Given the description of an element on the screen output the (x, y) to click on. 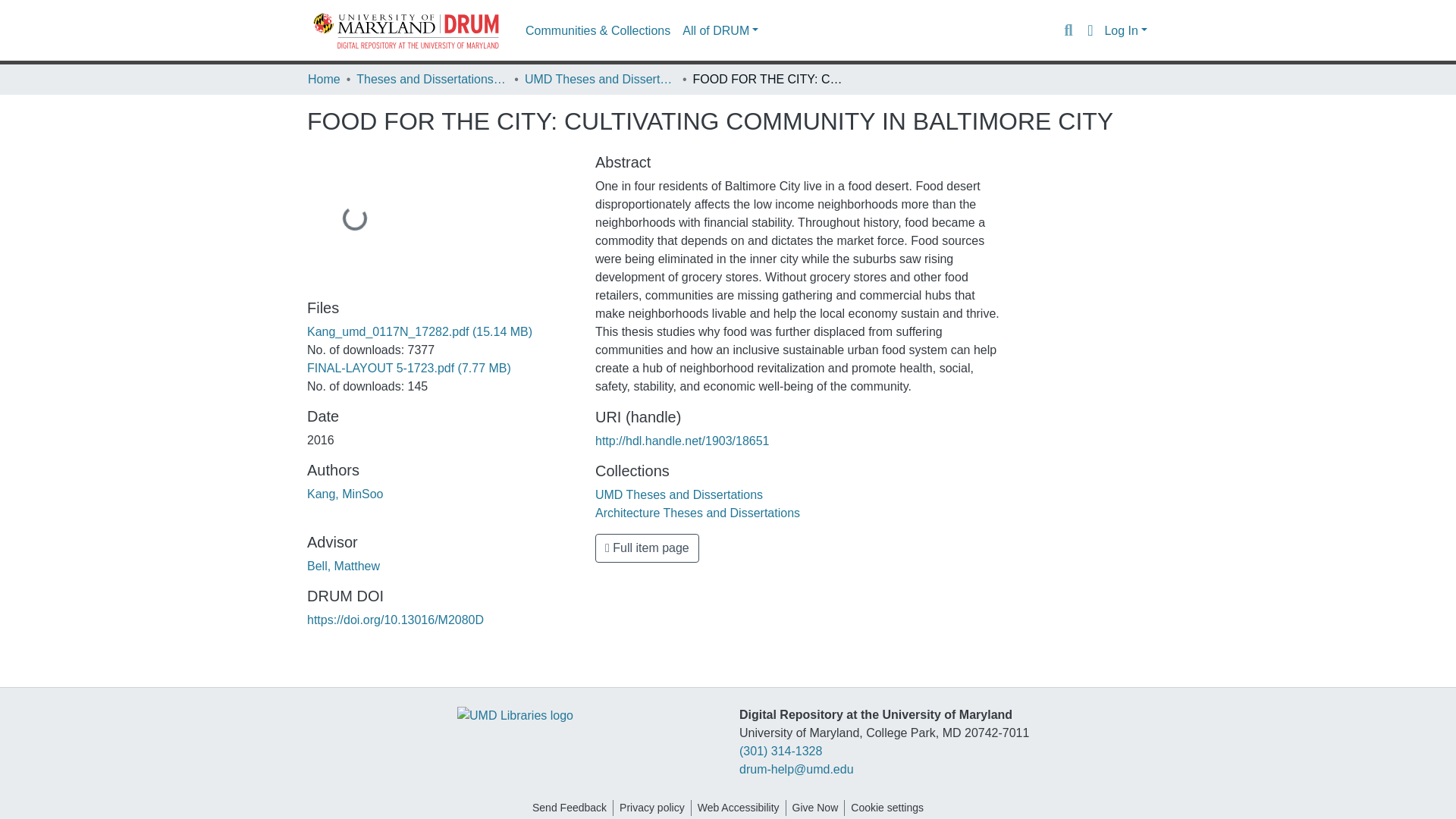
Architecture Theses and Dissertations (697, 512)
Full item page (646, 547)
Libraries Home Page (515, 714)
UMD Theses and Dissertations (678, 494)
Bell, Matthew (343, 565)
Home (323, 79)
Search (1067, 30)
Log In (1125, 30)
Send Feedback (568, 807)
Theses and Dissertations from UMD (432, 79)
